Given the description of an element on the screen output the (x, y) to click on. 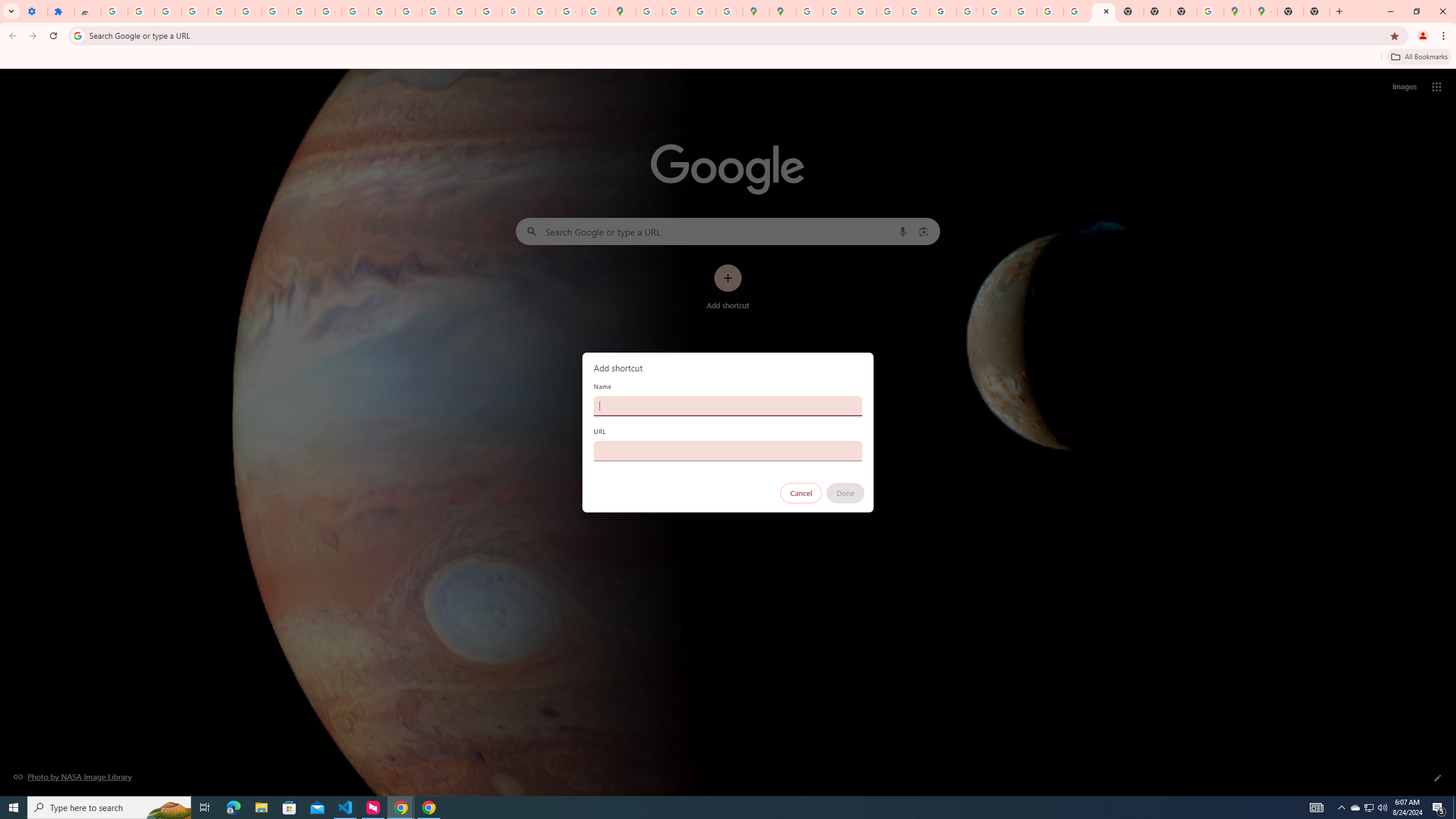
Google Maps (622, 11)
Reviews: Helix Fruit Jump Arcade Game (87, 11)
Name (727, 405)
New Tab (1183, 11)
Use Google Maps in Space - Google Maps Help (1210, 11)
Bookmarks (728, 58)
https://scholar.google.com/ (355, 11)
